Given the description of an element on the screen output the (x, y) to click on. 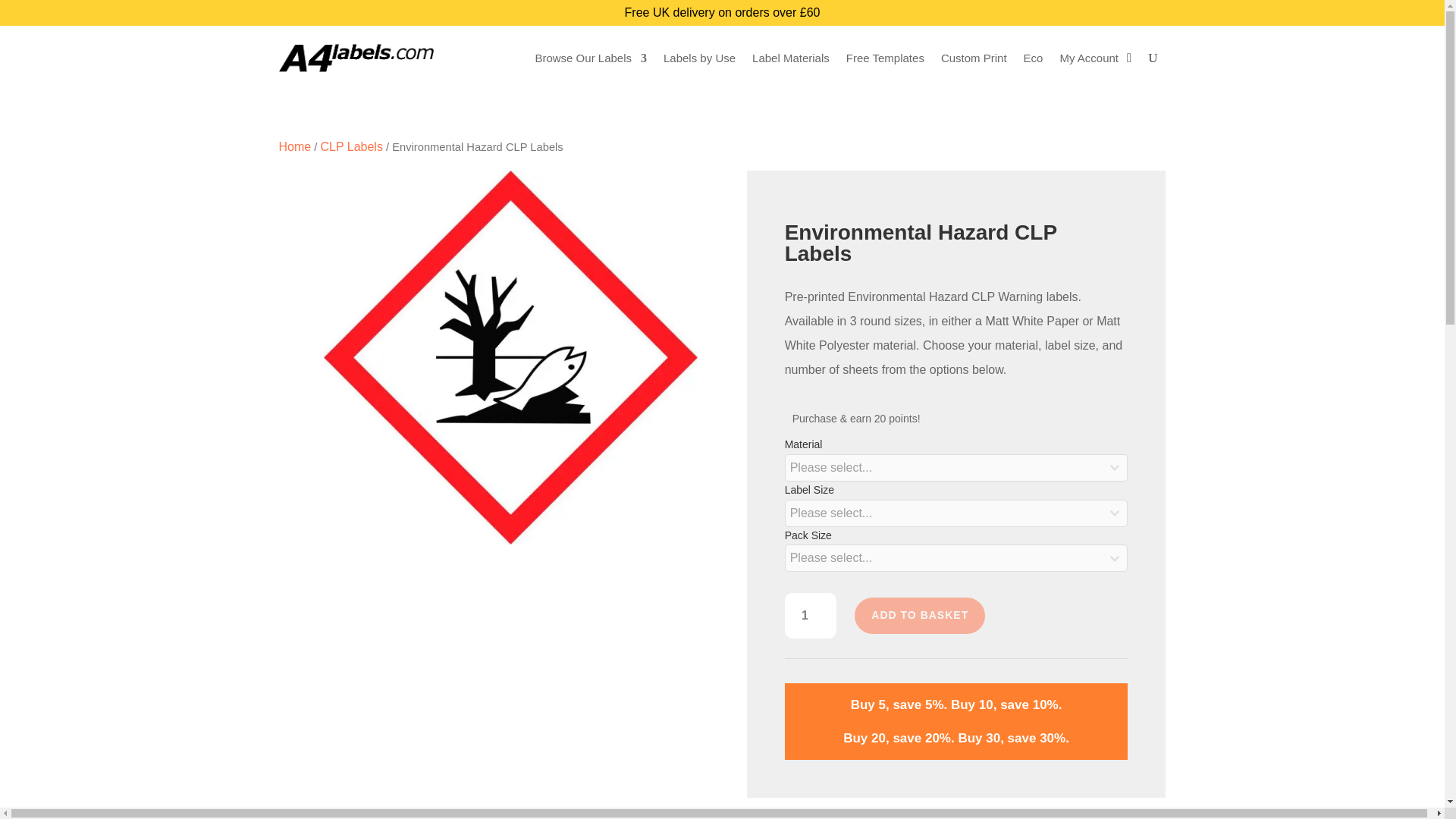
1 (810, 615)
Labels by Use (699, 57)
Browse Our Labels (590, 57)
